Given the description of an element on the screen output the (x, y) to click on. 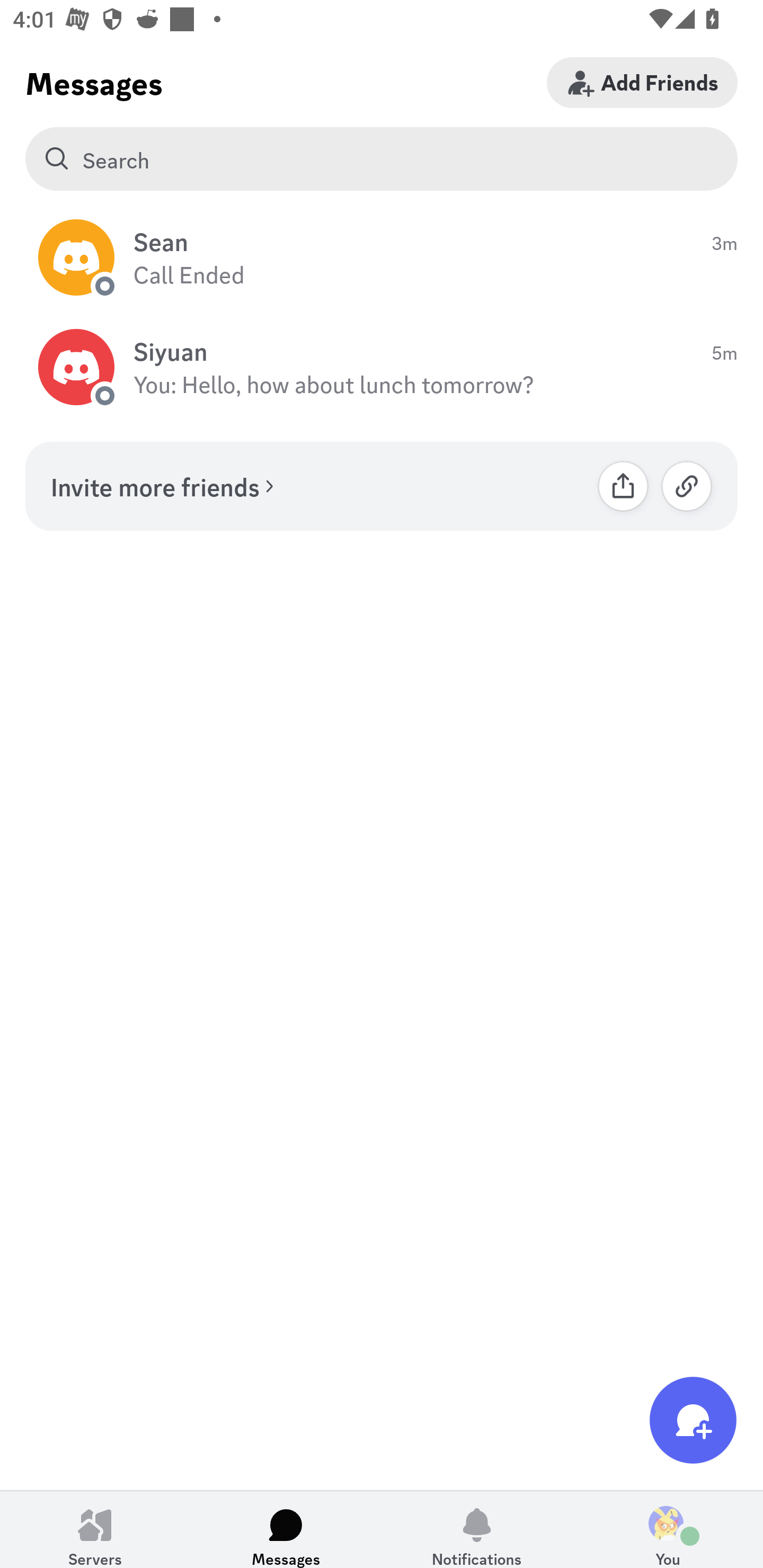
Add Friends (642, 82)
Search (381, 159)
Sean (direct message) Sean 3m Call Ended (381, 257)
Share Link (622, 485)
Copy Link (686, 485)
New Message (692, 1419)
Servers (95, 1529)
Messages (285, 1529)
Notifications (476, 1529)
You (667, 1529)
